Given the description of an element on the screen output the (x, y) to click on. 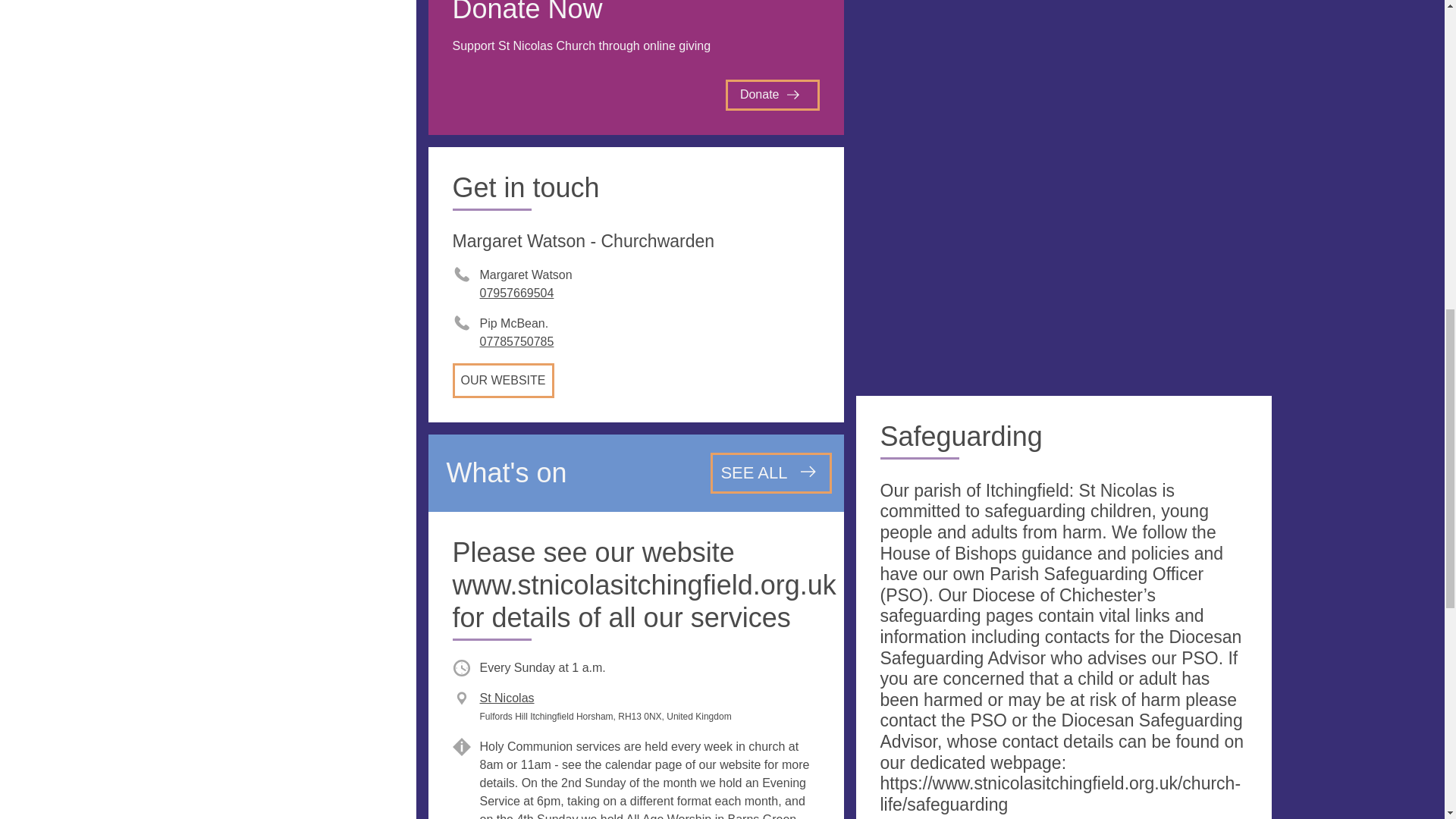
Donate (772, 94)
